Given the description of an element on the screen output the (x, y) to click on. 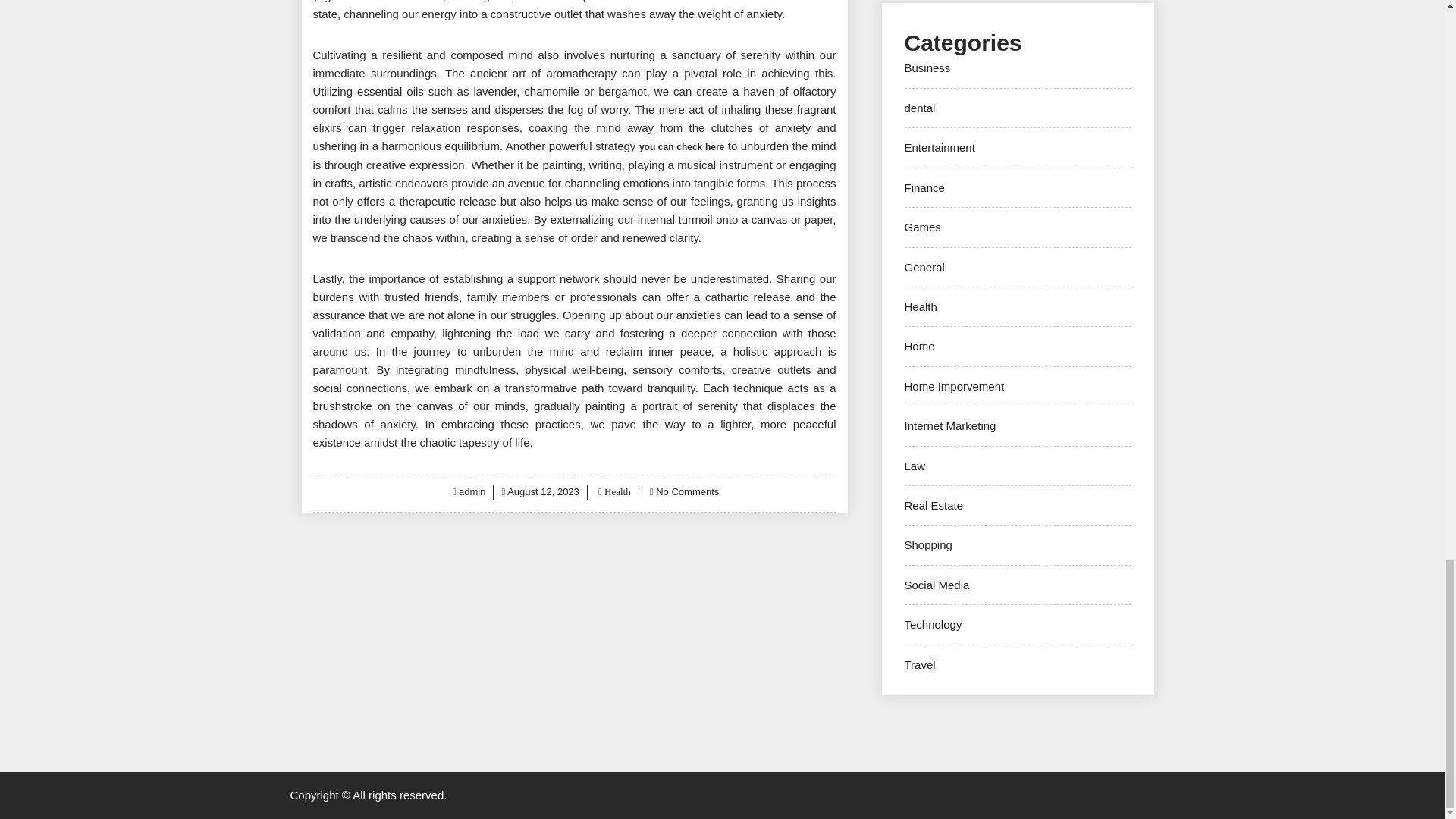
Health (616, 491)
No Comments (687, 491)
August 12, 2023 (542, 491)
admin (471, 491)
you can check here (681, 146)
